Given the description of an element on the screen output the (x, y) to click on. 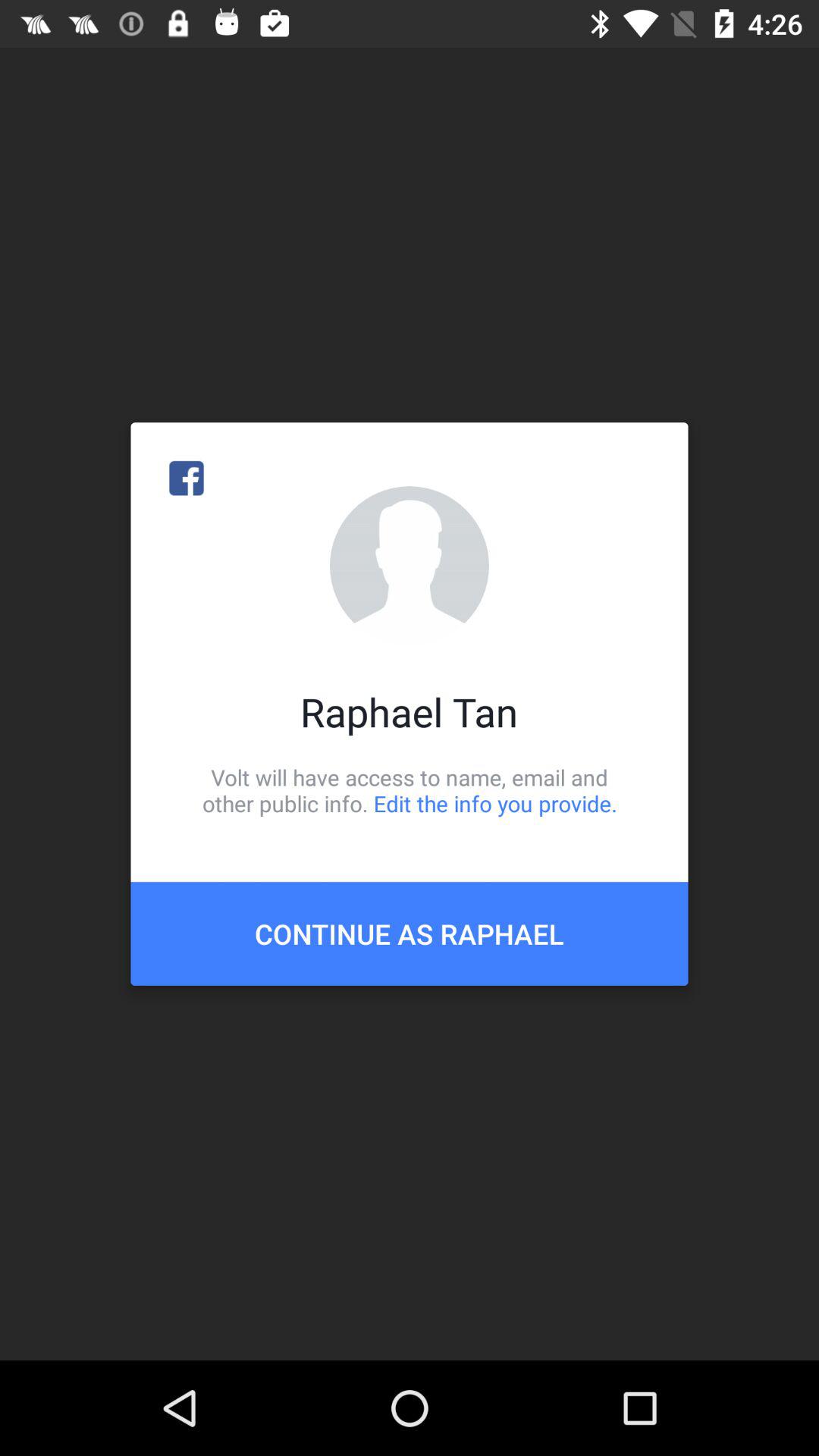
turn on the item below raphael tan item (409, 790)
